Given the description of an element on the screen output the (x, y) to click on. 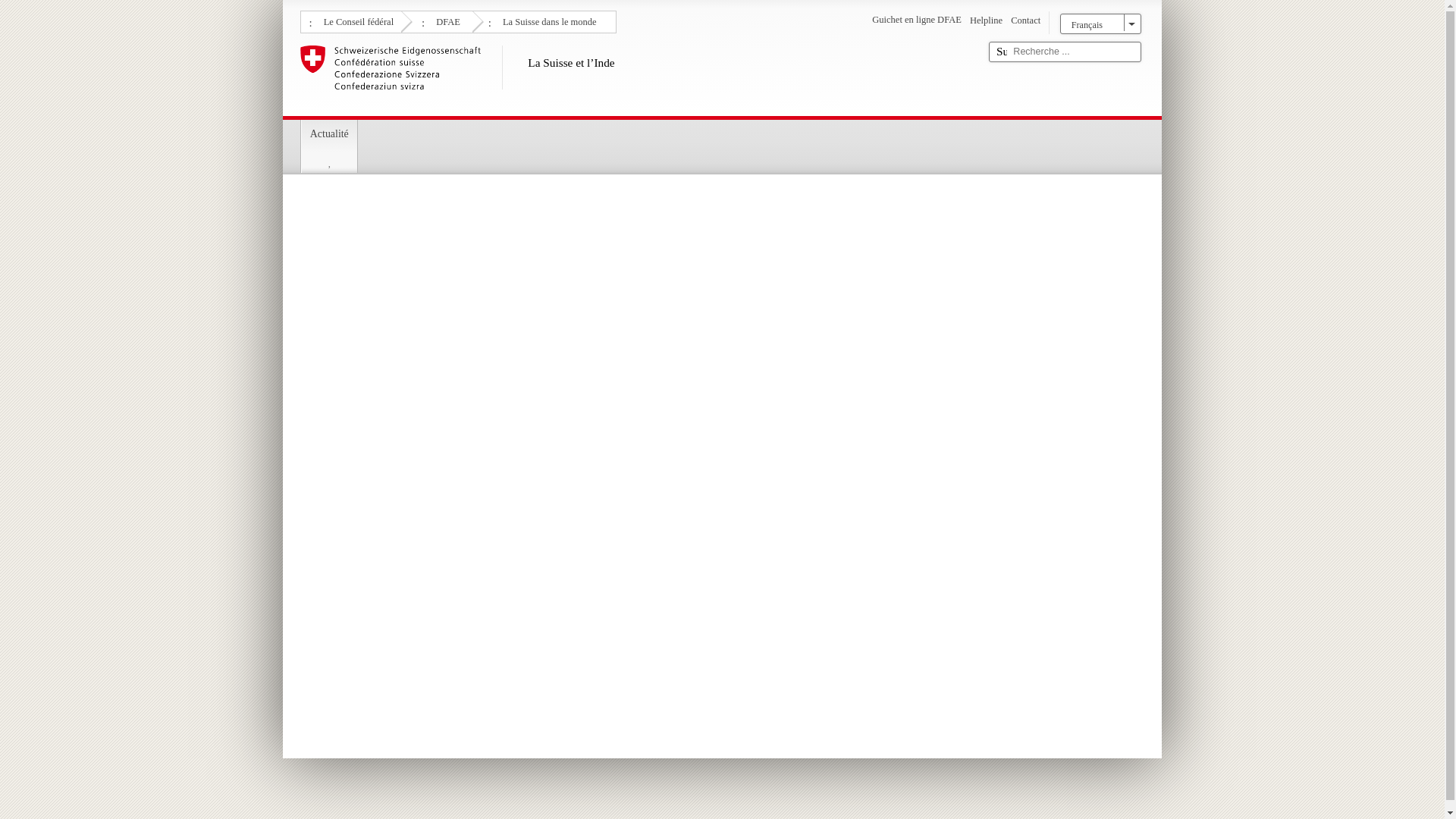
La Suisse dans le monde (547, 20)
Submit (1001, 51)
DFAE (446, 20)
